Given the description of an element on the screen output the (x, y) to click on. 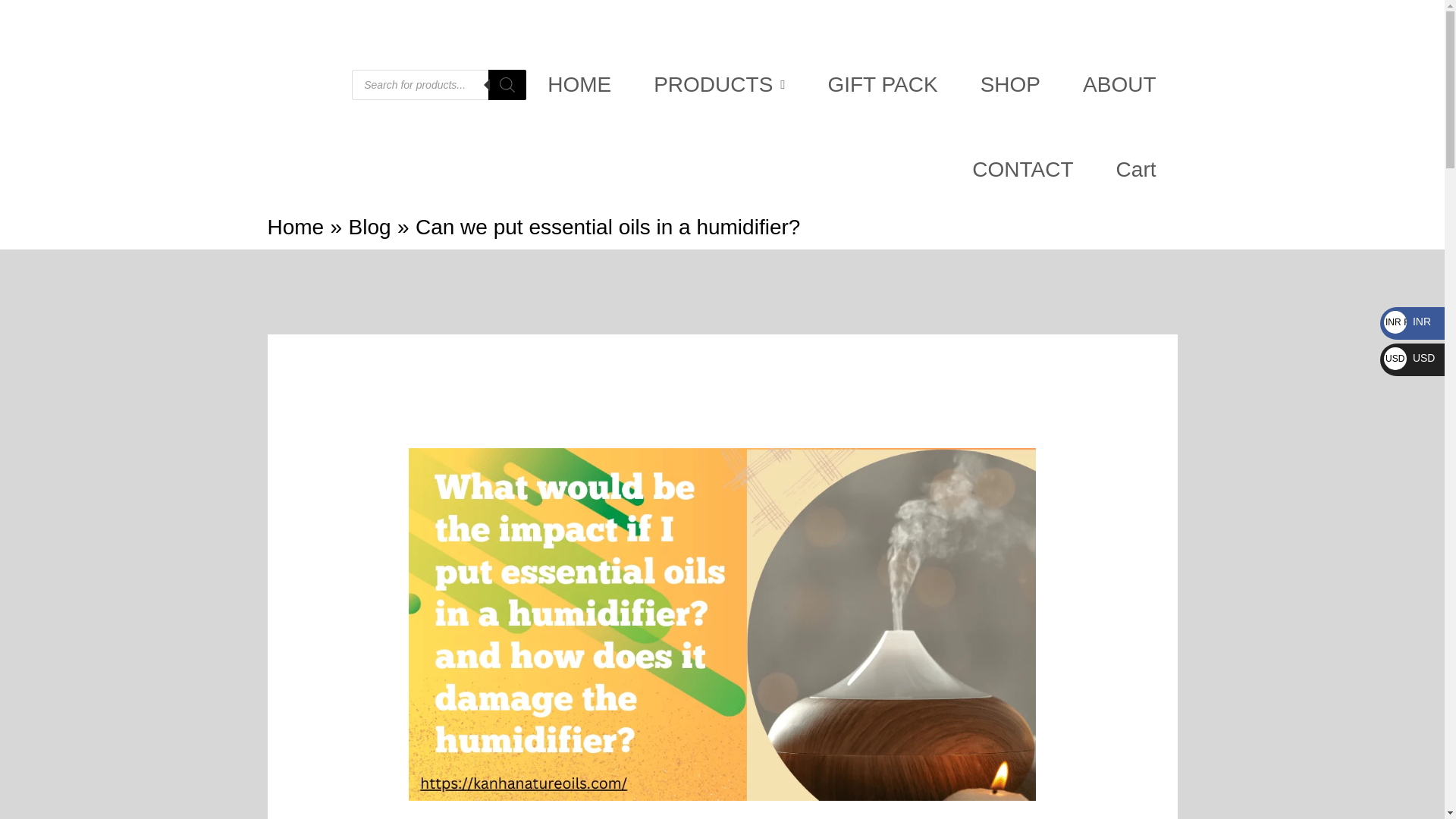
Home (294, 227)
PRODUCTS (718, 84)
ABOUT (1118, 84)
GIFT PACK (882, 84)
Blog (370, 227)
CONTACT (1022, 169)
HOME (578, 84)
SHOP (1010, 84)
Cart (1135, 169)
